Given the description of an element on the screen output the (x, y) to click on. 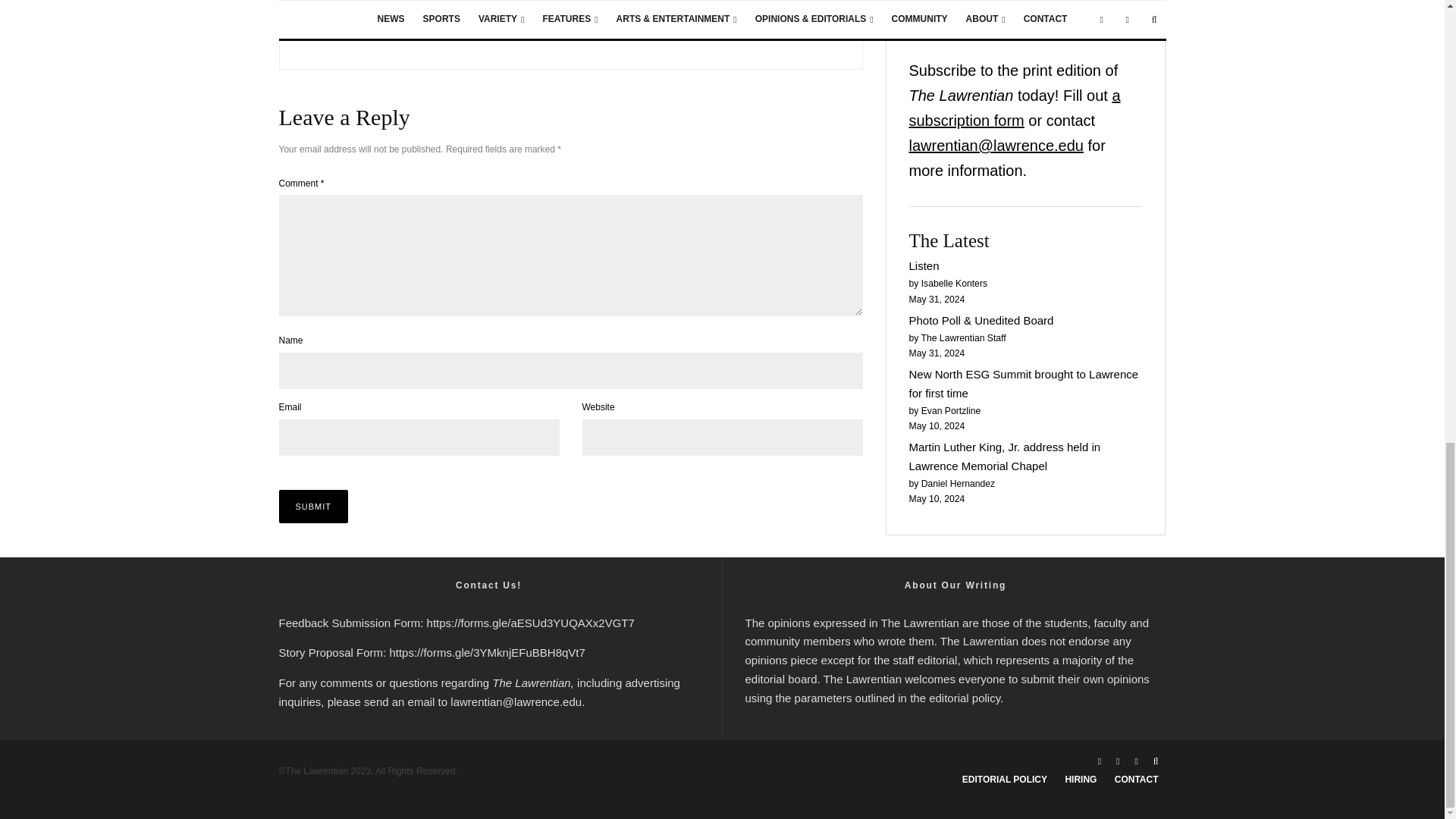
Submit (314, 506)
Page 11 (955, 661)
